Given the description of an element on the screen output the (x, y) to click on. 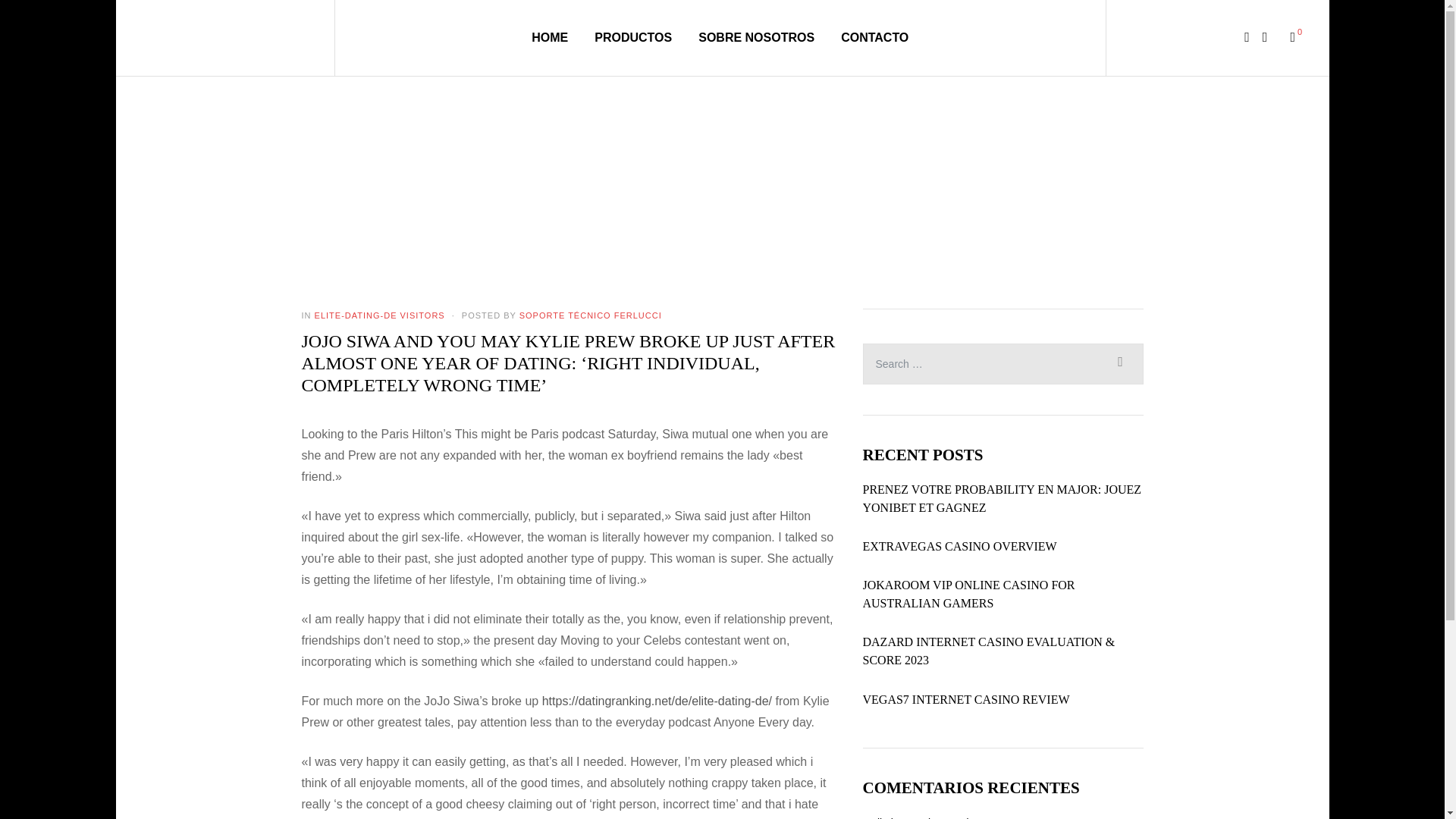
PRENEZ VOTRE PROBABILITY EN MAJOR: JOUEZ YONIBET ET GAGNEZ (1002, 498)
CONTACTO (874, 37)
HOME (549, 37)
EXTRAVEGAS CASINO OVERVIEW (960, 546)
Home (655, 175)
JOKAROOM VIP ONLINE CASINO FOR AUSTRALIAN GAMERS (1002, 594)
VEGAS7 INTERNET CASINO REVIEW (966, 700)
Go to Ferlucci. (655, 175)
SOBRE NOSOTROS (755, 37)
ELITE-DATING-DE VISITORS (379, 315)
